Given the description of an element on the screen output the (x, y) to click on. 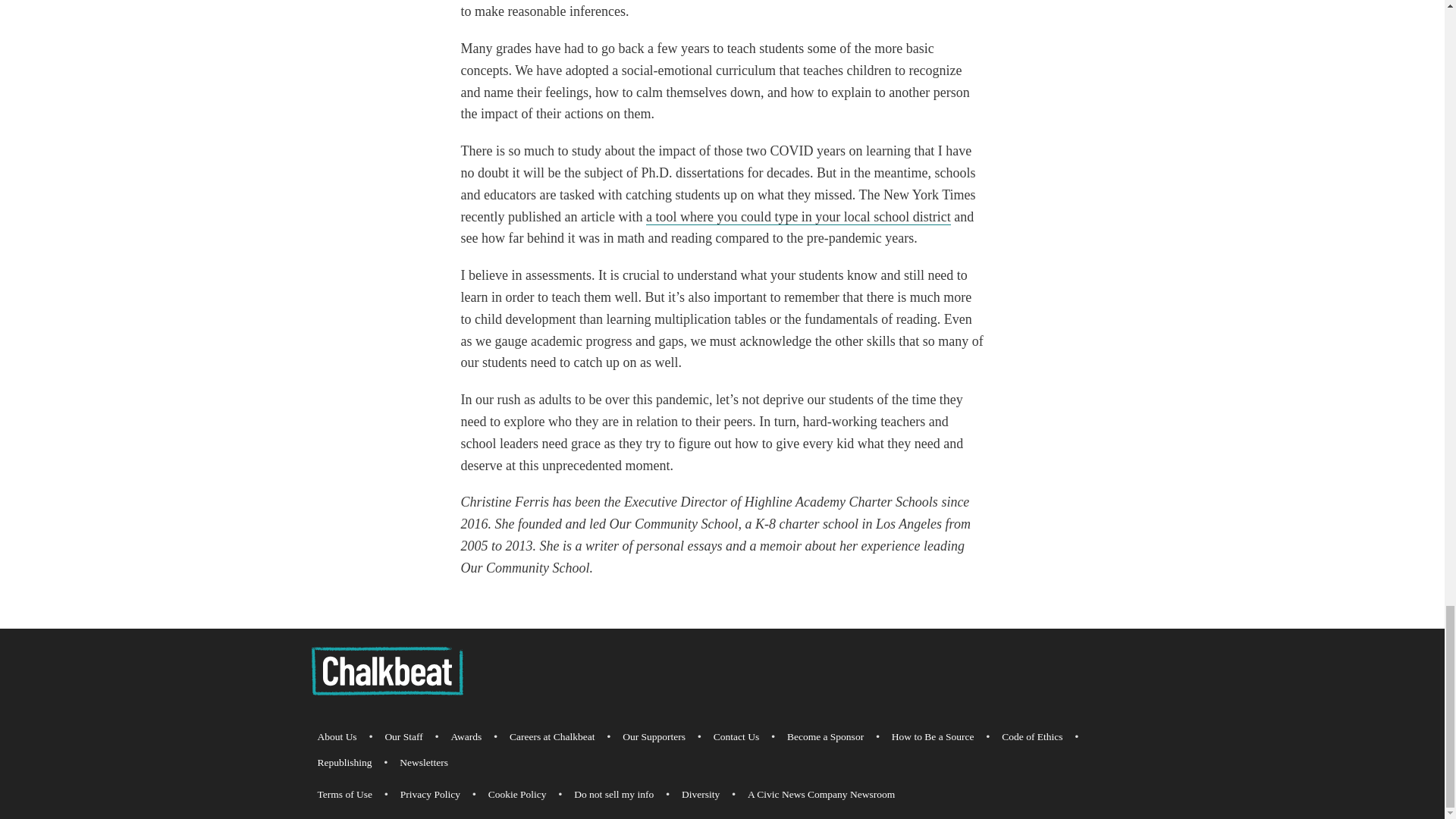
How to Be a Source (932, 736)
Awards (465, 736)
Become a Sponsor (824, 736)
Our Supporters (653, 736)
Our Staff (403, 736)
A Civic News Company Newsroom (821, 794)
Privacy Policy (429, 794)
Do not sell my info (613, 794)
Careers at Chalkbeat (551, 736)
a tool where you could type in your local school district (798, 217)
